Given the description of an element on the screen output the (x, y) to click on. 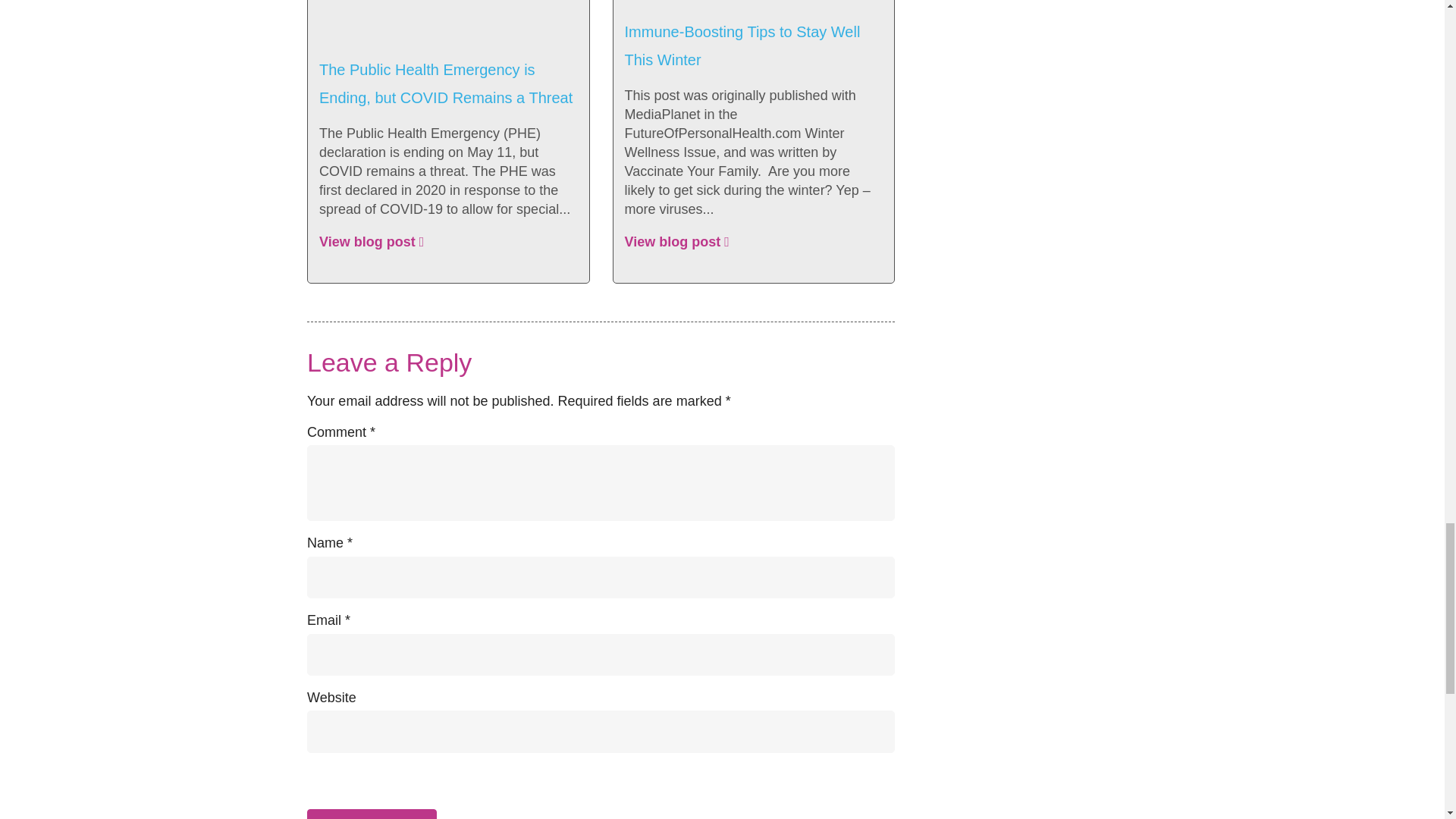
Post Comment (371, 814)
Immune-Boosting Tips to Stay Well This Winter (742, 45)
View blog post (370, 242)
Post Comment (371, 814)
View blog post (676, 242)
